Given the description of an element on the screen output the (x, y) to click on. 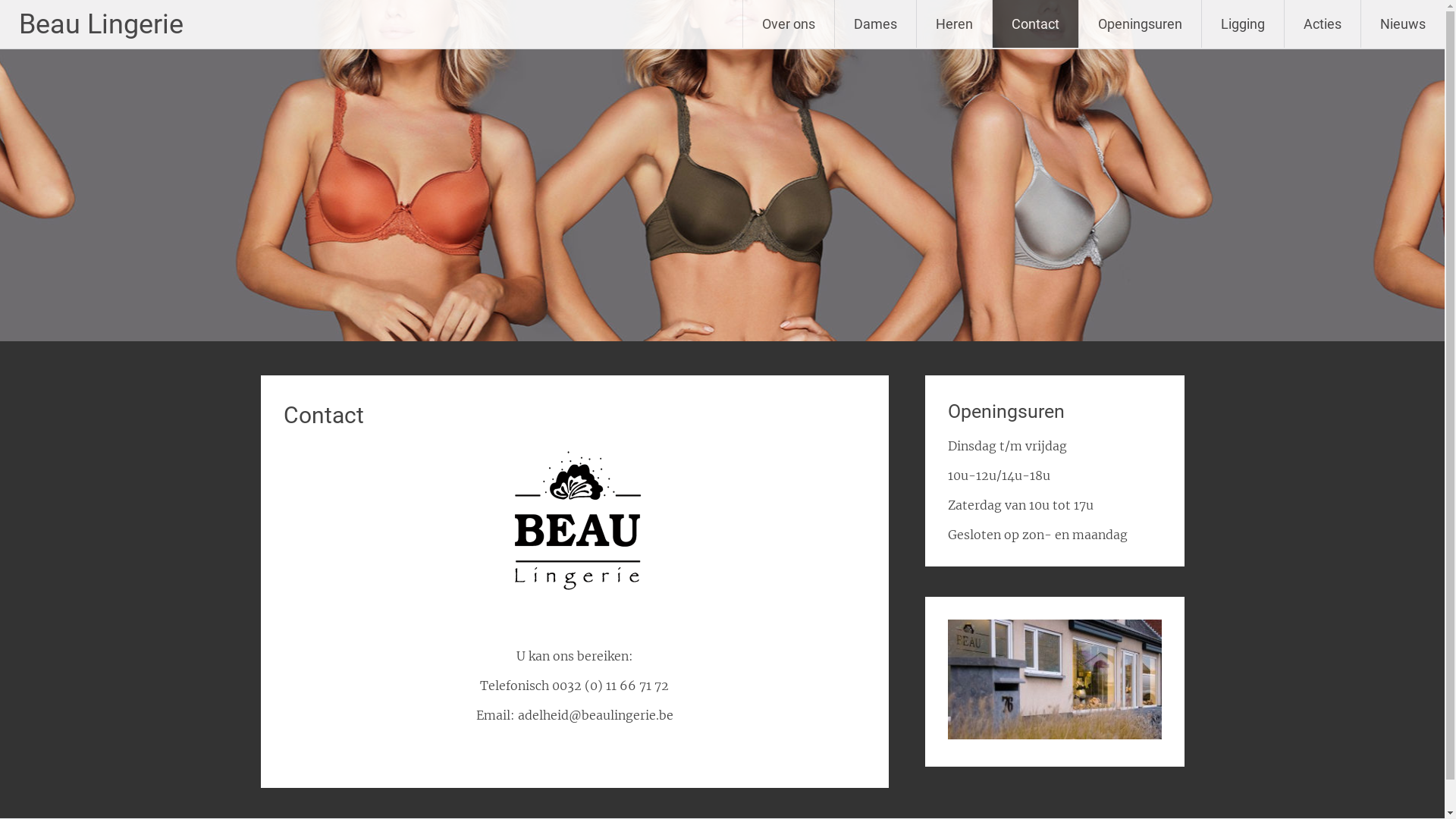
adelheid@beaulingerie.be Element type: text (595, 714)
Heren Element type: text (953, 23)
Openingsuren Element type: text (1140, 23)
Dames Element type: text (875, 23)
Contact Element type: text (1035, 23)
Ligging Element type: text (1242, 23)
Acties Element type: text (1322, 23)
Naar de inhoud springen Element type: text (826, 9)
Beau Lingerie Element type: text (100, 24)
Nieuws Element type: text (1402, 23)
Over ons Element type: text (788, 23)
